Given the description of an element on the screen output the (x, y) to click on. 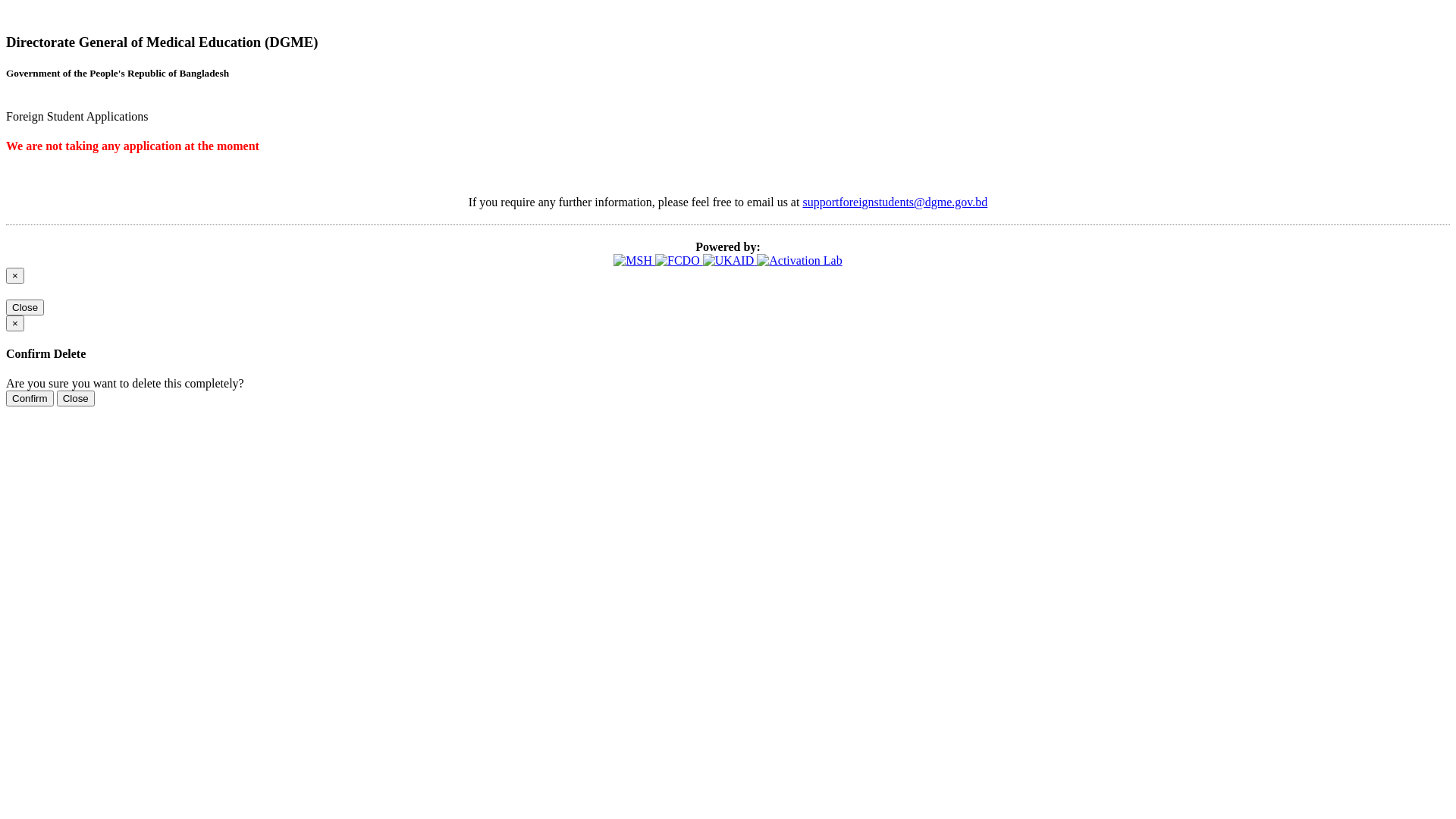
Confirm Element type: text (29, 398)
Log In Element type: text (22, 175)
Close Element type: text (24, 307)
Close Element type: text (75, 398)
supportforeignstudents@dgme.gov.bd Element type: text (894, 201)
